Given the description of an element on the screen output the (x, y) to click on. 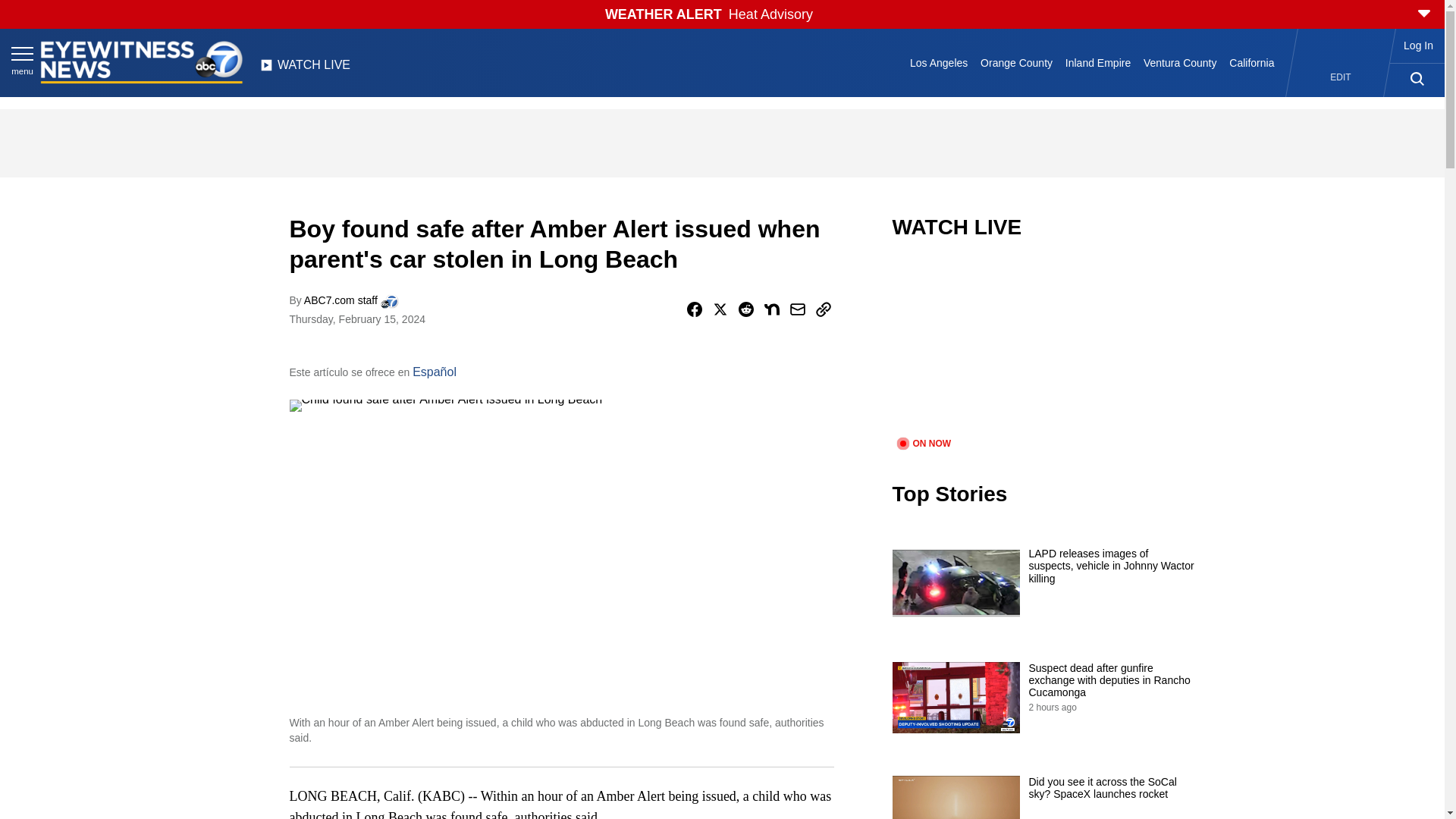
Los Angeles (939, 62)
California (1252, 62)
WATCH LIVE (305, 69)
Ventura County (1180, 62)
Inland Empire (1097, 62)
Orange County (1016, 62)
EDIT (1340, 77)
video.title (1043, 347)
